Given the description of an element on the screen output the (x, y) to click on. 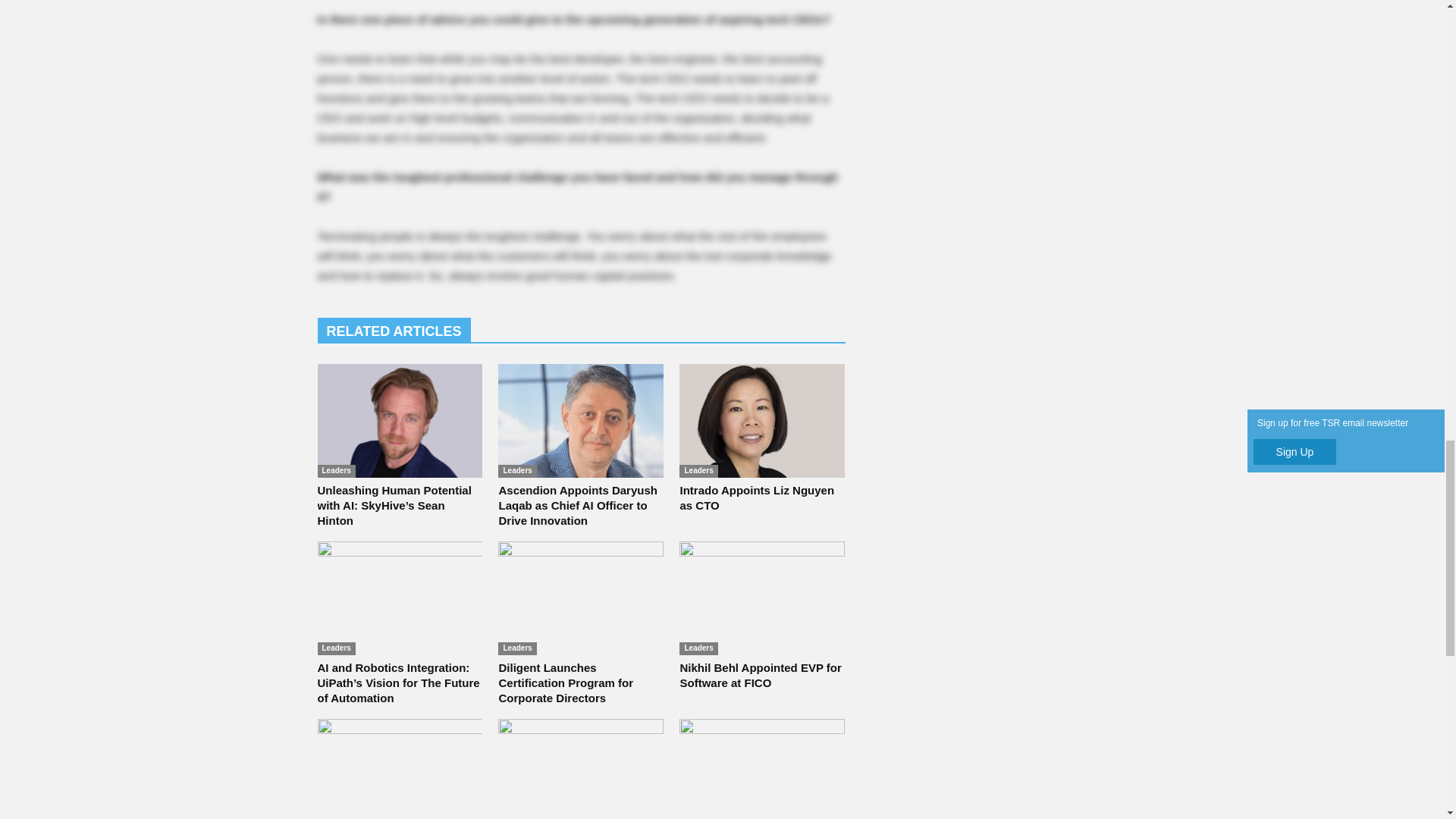
Intrado Appoints Liz Nguyen as CTO (761, 420)
Intrado Appoints Liz Nguyen as CTO (756, 497)
